Given the description of an element on the screen output the (x, y) to click on. 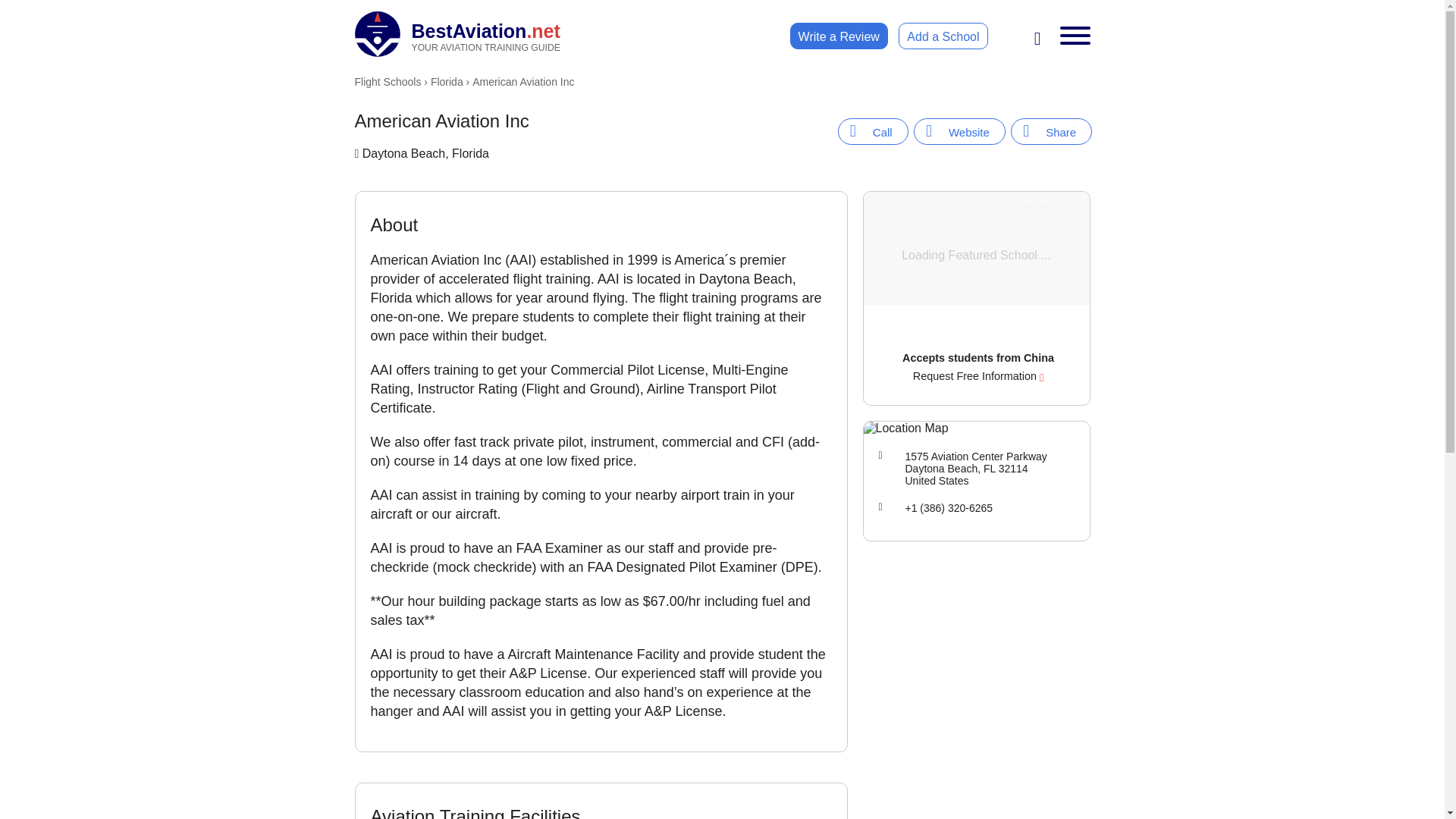
Flight Schools (388, 81)
Call (873, 130)
Review an aviation school (457, 32)
Visit website (839, 35)
Add your aviation school (960, 130)
American Aviation Inc (942, 35)
Share (1051, 130)
Add a School (1051, 130)
Florida (942, 35)
